Given the description of an element on the screen output the (x, y) to click on. 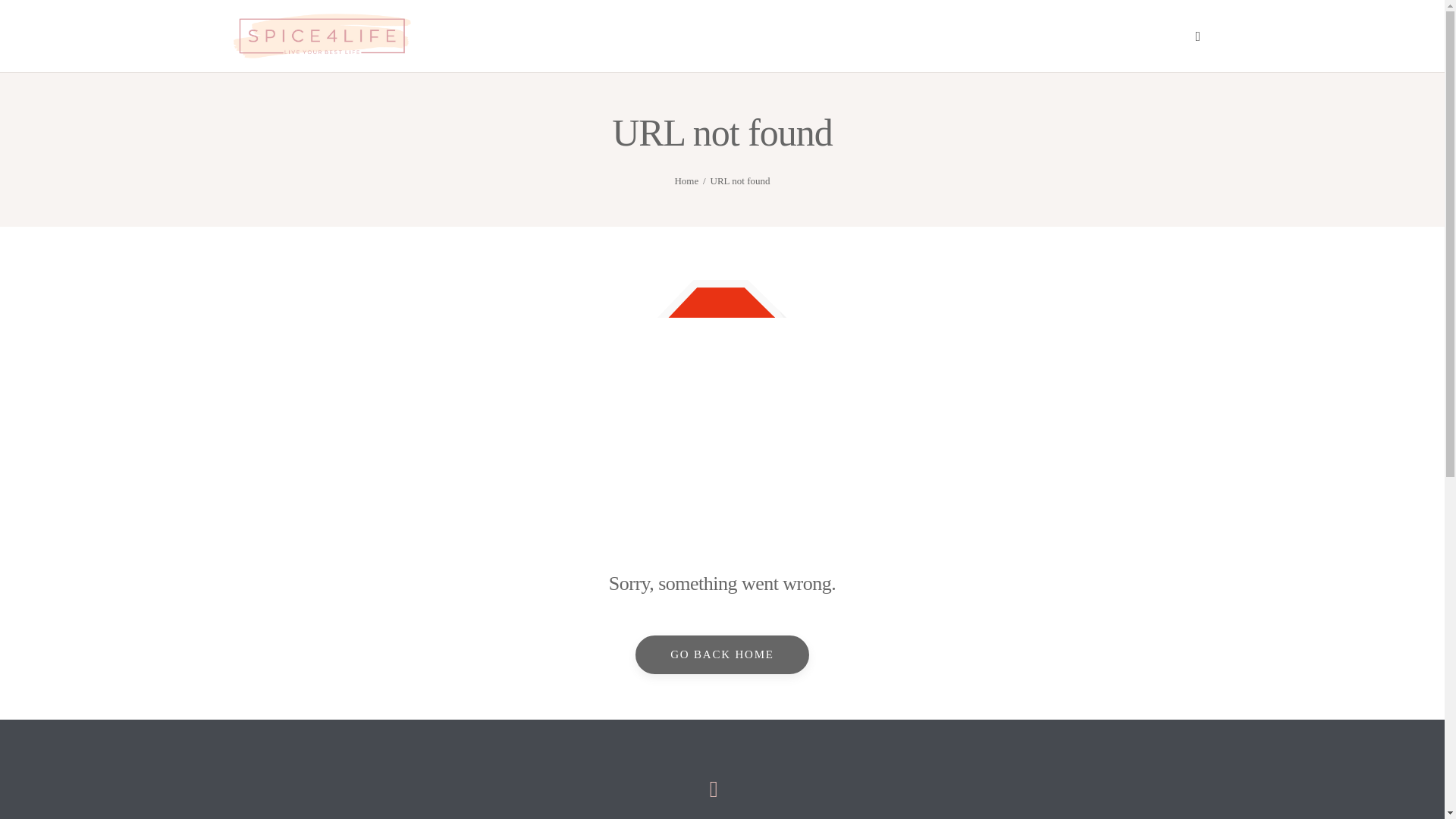
Home (686, 180)
